Given the description of an element on the screen output the (x, y) to click on. 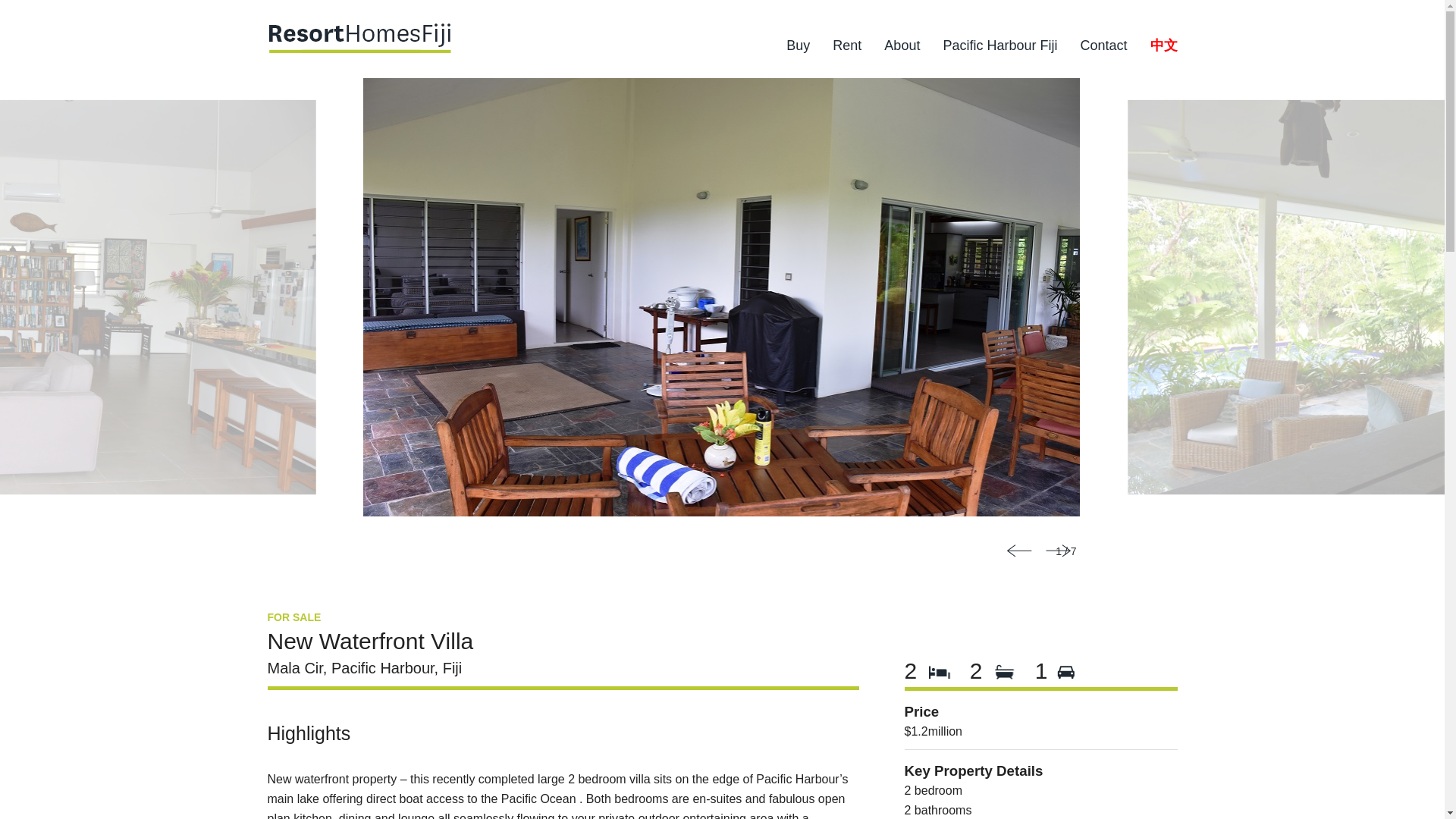
Contact (1103, 48)
Rent (846, 48)
Pacific Harbour Fiji (999, 48)
About (901, 48)
Buy (797, 48)
